Given the description of an element on the screen output the (x, y) to click on. 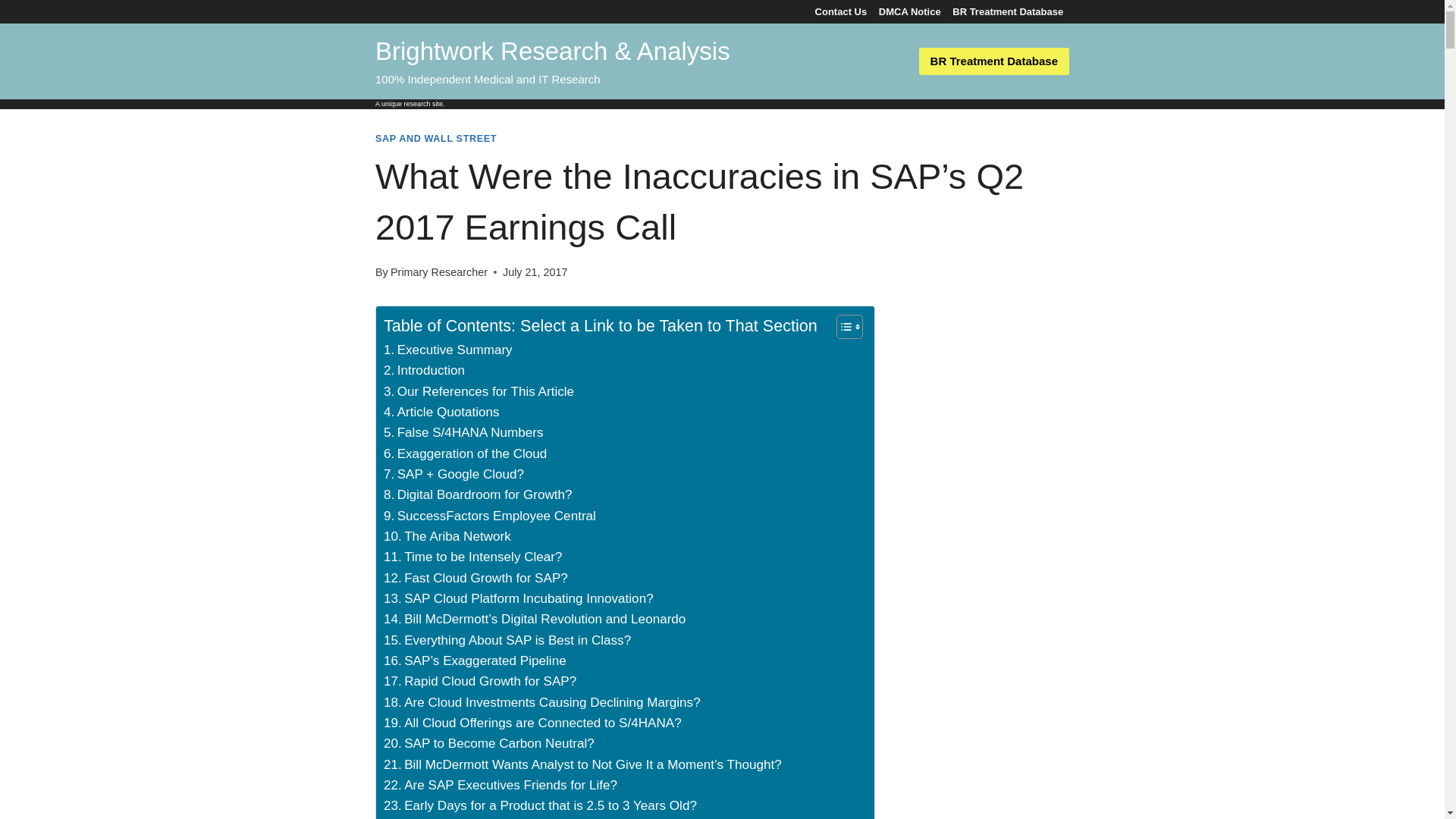
Exaggeration of the Cloud (465, 453)
Digital Boardroom for Growth? (478, 494)
Are Cloud Investments Causing Declining Margins? (542, 702)
Are SAP Executives Friends for Life? (500, 784)
Digital Boardroom for Growth? (478, 494)
SAP Cloud Platform Incubating Innovation? (518, 598)
SuccessFactors Employee Central (489, 516)
Introduction (424, 370)
DMCA Notice (909, 11)
Fast Cloud Growth for SAP? (475, 578)
